Given the description of an element on the screen output the (x, y) to click on. 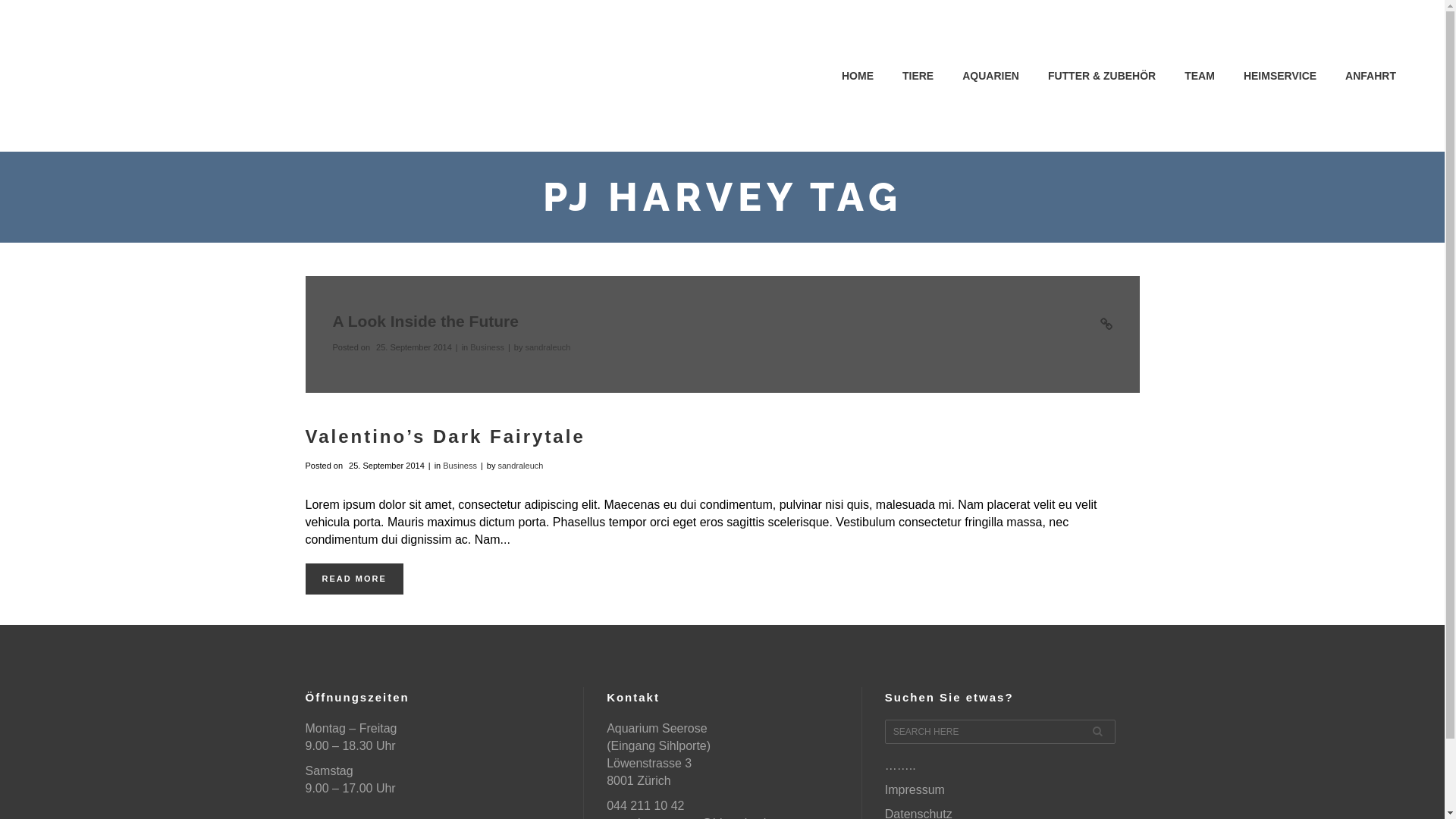
TEAM Element type: text (1199, 75)
HOME Element type: text (857, 75)
Business Element type: text (487, 346)
A Look Inside the Future Element type: text (424, 320)
AQUARIEN Element type: text (990, 75)
sandraleuch Element type: text (519, 465)
sandraleuch Element type: text (547, 346)
HEIMSERVICE Element type: text (1279, 75)
READ MORE Element type: text (353, 578)
ANFAHRT Element type: text (1370, 75)
TIERE Element type: text (917, 75)
Impressum Element type: text (914, 789)
Business Element type: text (459, 465)
